Given the description of an element on the screen output the (x, y) to click on. 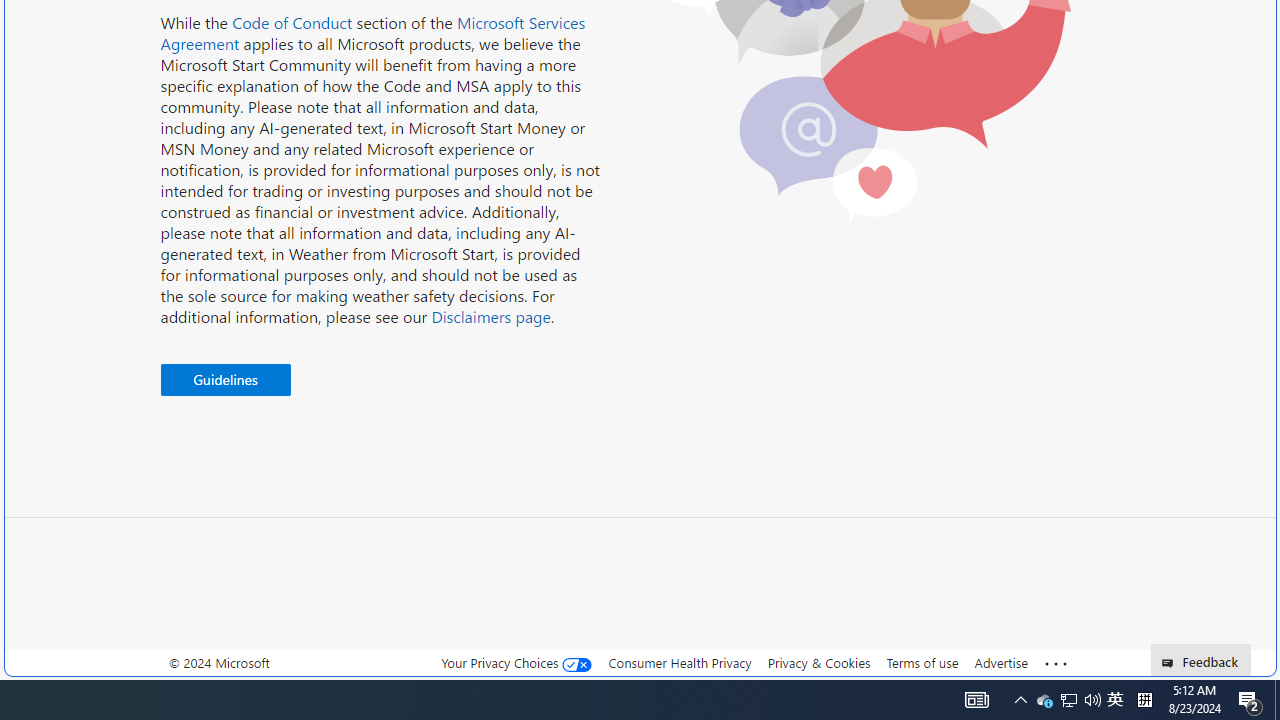
Class: oneFooter_seeMore-DS-EntryPoint1-1 (1055, 663)
Privacy & Cookies (818, 662)
Your Privacy Choices (516, 662)
Class: feedback_link_icon-DS-EntryPoint1-1 (1170, 663)
Terms of use (921, 662)
Consumer Health Privacy (680, 662)
Microsoft Services Agreement (373, 33)
Disclaimers page (490, 316)
Terms of use (921, 663)
Privacy & Cookies (818, 663)
Guidelines  (225, 380)
